Given the description of an element on the screen output the (x, y) to click on. 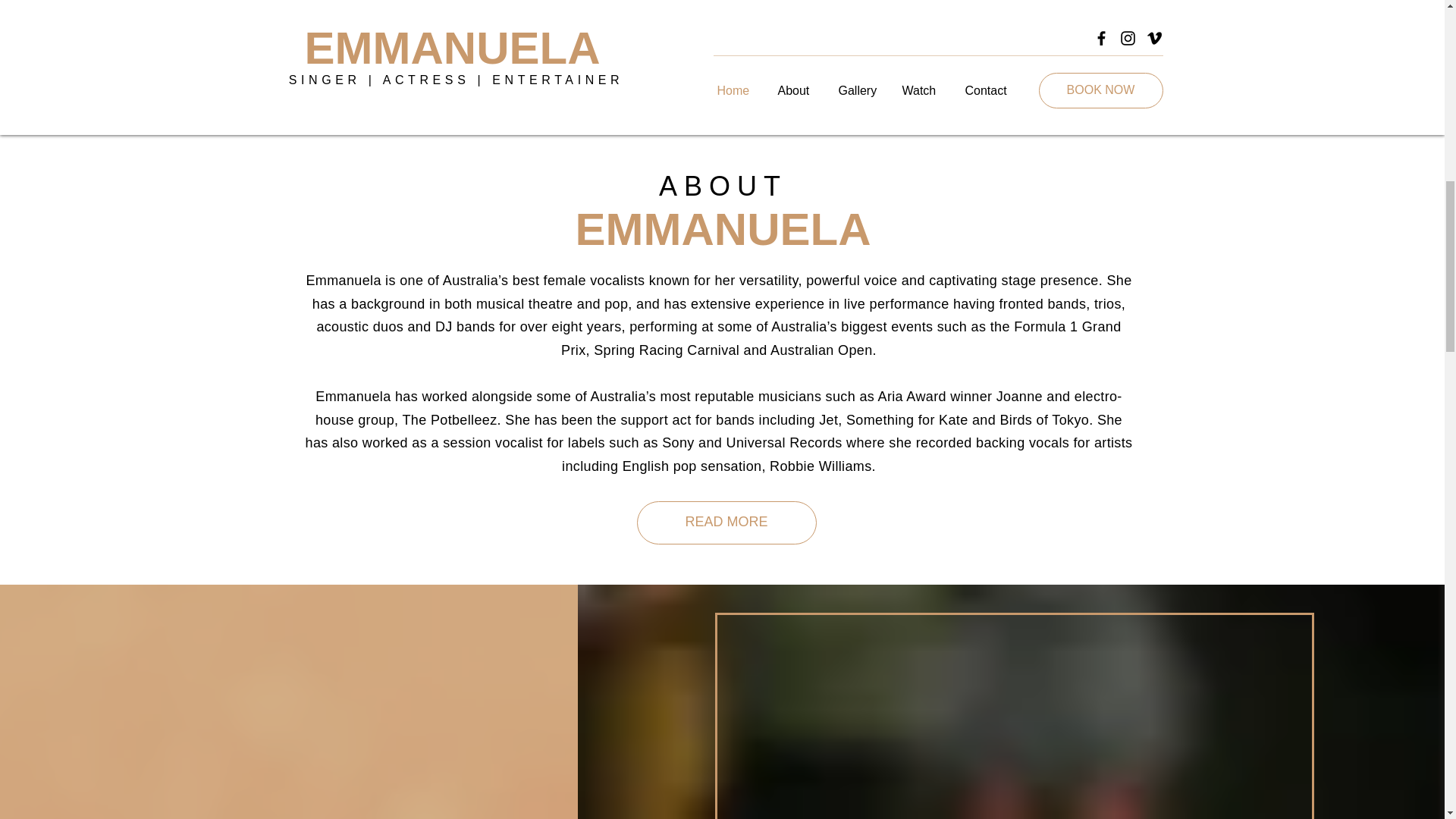
EMMANUELA (722, 228)
READ MORE (726, 522)
ABOUT (723, 185)
